Given the description of an element on the screen output the (x, y) to click on. 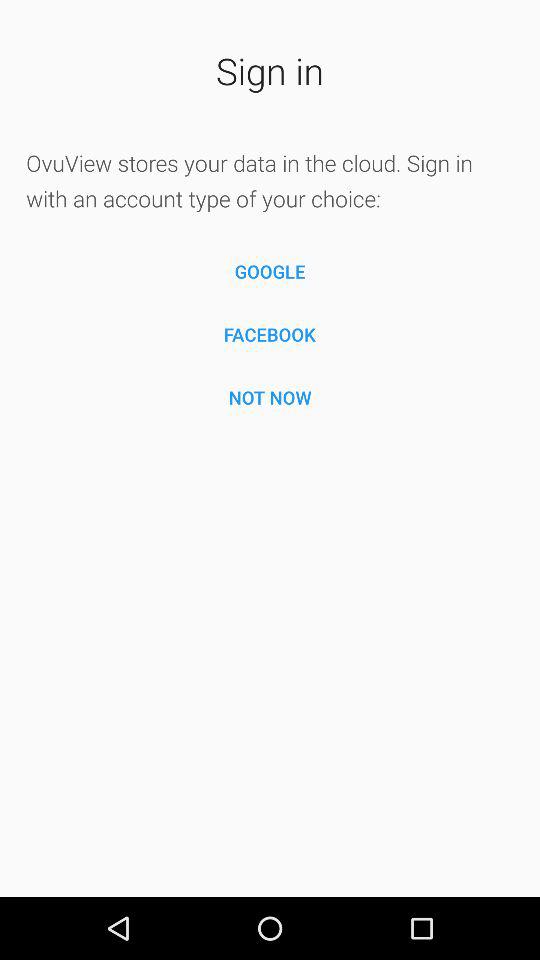
turn off item above not now item (269, 334)
